Given the description of an element on the screen output the (x, y) to click on. 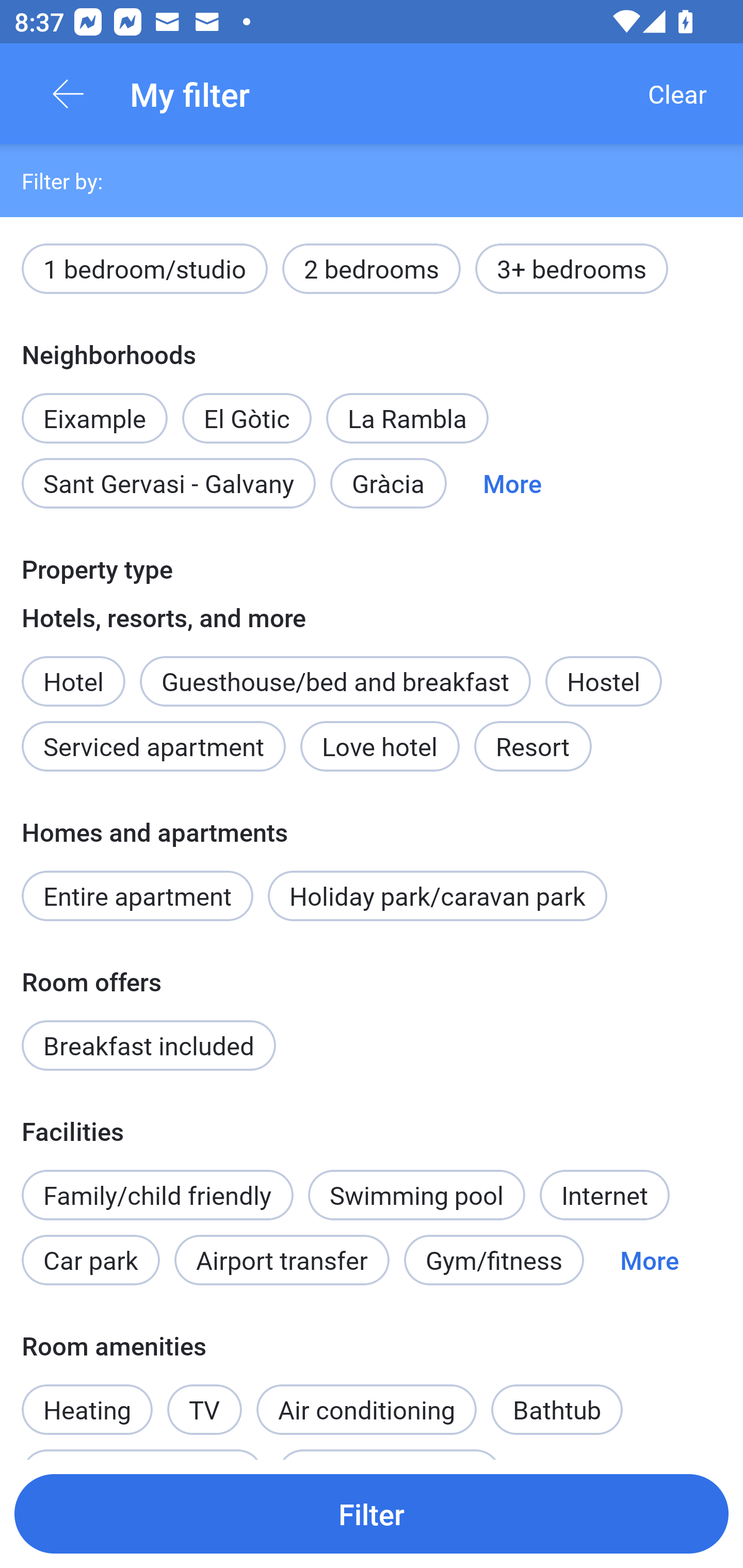
Clear (676, 93)
1 bedroom/studio (144, 268)
2 bedrooms (371, 268)
3+ bedrooms (571, 268)
Eixample (94, 407)
El Gòtic (246, 407)
La Rambla (407, 417)
Sant Gervasi - Galvany (168, 483)
Gràcia (387, 483)
More (512, 483)
Hotel (73, 670)
Guesthouse/bed and breakfast (335, 681)
Hostel (603, 681)
Serviced apartment (153, 746)
Love hotel (379, 746)
Resort (533, 746)
Entire apartment (137, 895)
Holiday park/caravan park (437, 895)
Breakfast included (148, 1044)
Family/child friendly (157, 1195)
Swimming pool (416, 1195)
Internet (604, 1195)
Car park (90, 1259)
Airport transfer (281, 1259)
Gym/fitness (493, 1259)
More (649, 1259)
Heating (87, 1398)
TV (204, 1398)
Air conditioning (366, 1409)
Bathtub (556, 1409)
Filter (371, 1513)
